Given the description of an element on the screen output the (x, y) to click on. 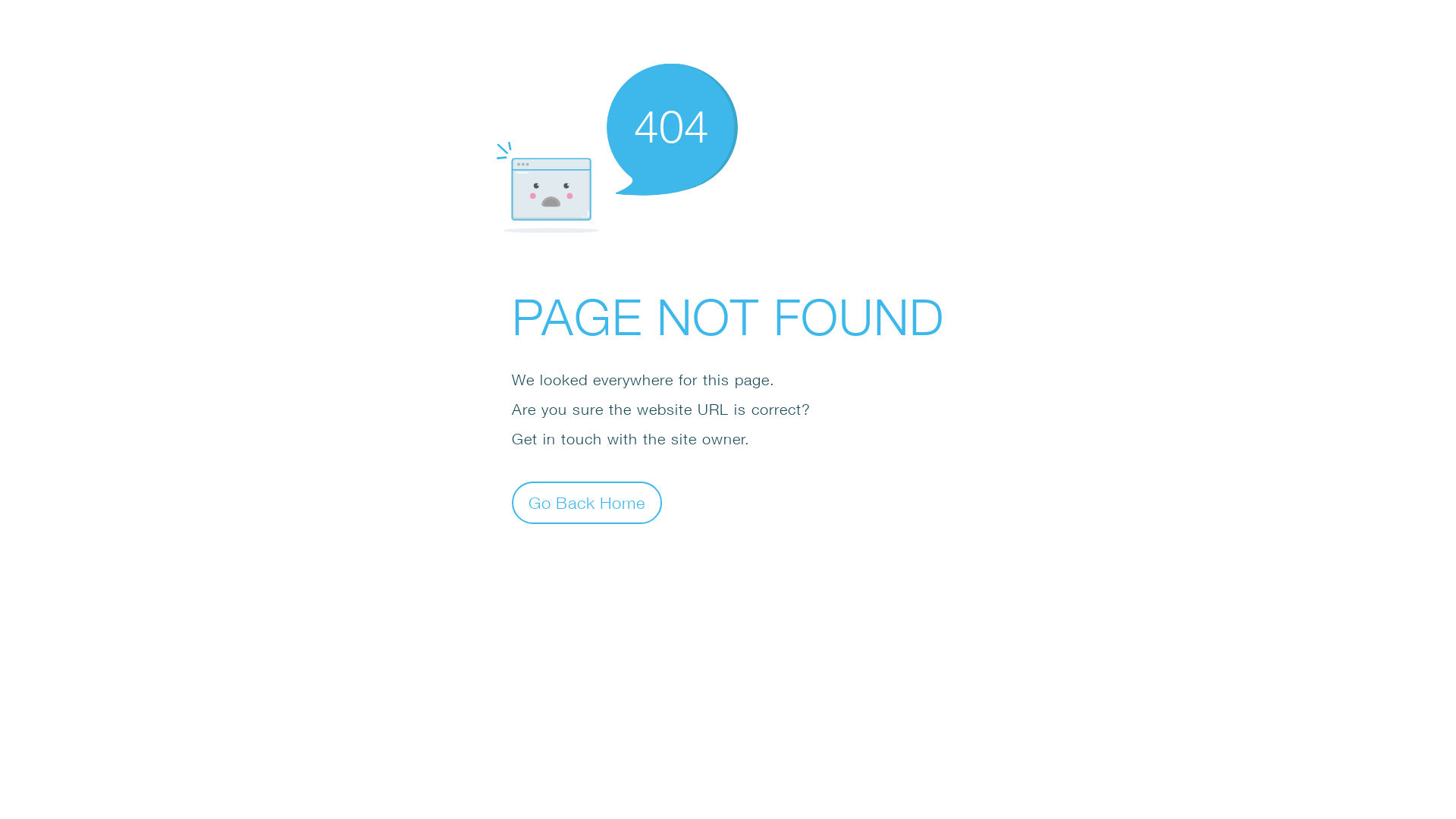
Go Back Home Element type: text (586, 502)
